Given the description of an element on the screen output the (x, y) to click on. 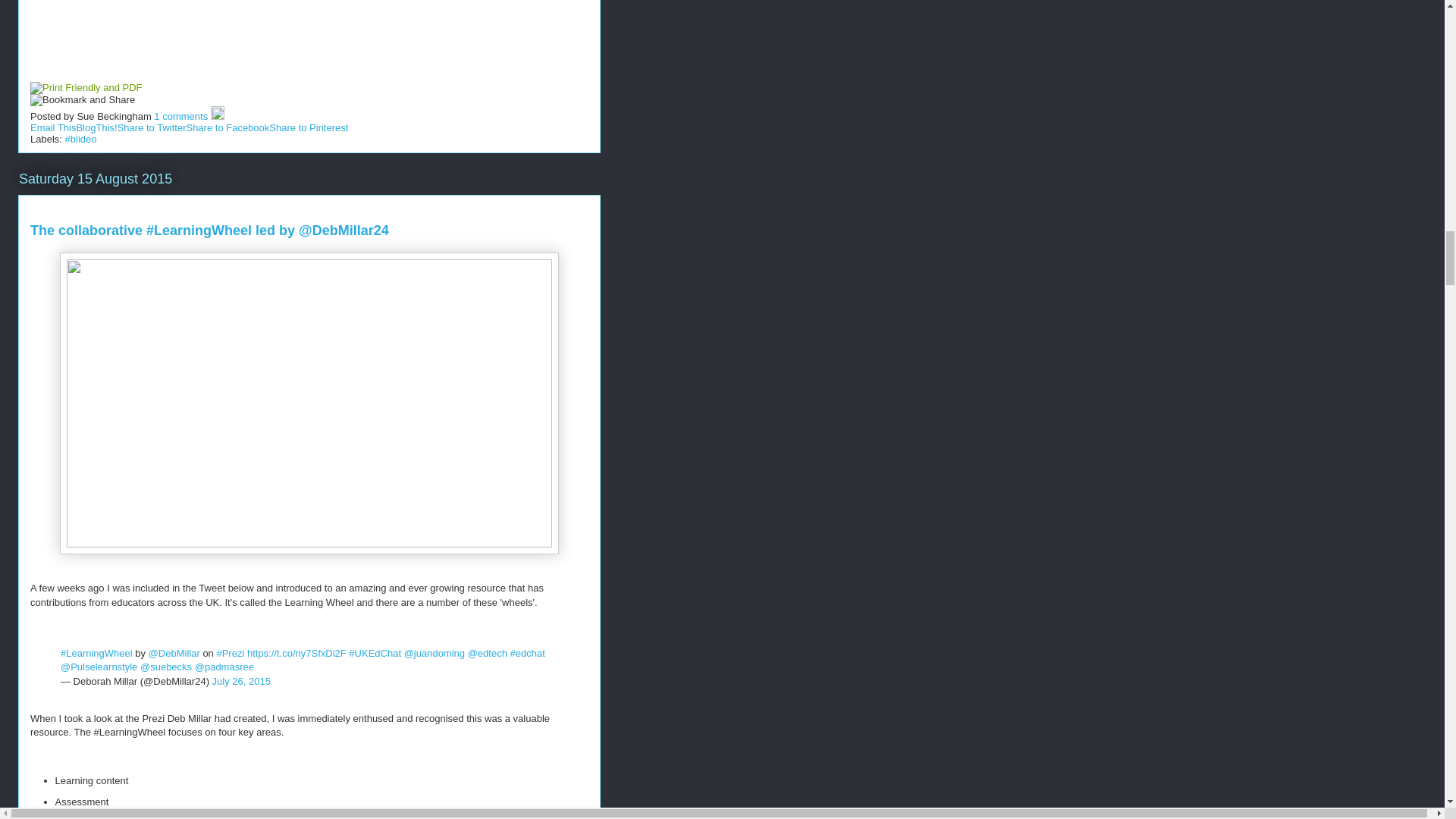
Printer Friendly and PDF (86, 87)
Share to Twitter (151, 127)
Email This (52, 127)
BlogThis! (95, 127)
Share to Pinterest (308, 127)
1 comments (181, 116)
Share to Facebook (227, 127)
Edit Post (217, 116)
Share to Facebook (227, 127)
BlogThis! (95, 127)
Share to Pinterest (308, 127)
Share to Twitter (151, 127)
Email This (52, 127)
